Given the description of an element on the screen output the (x, y) to click on. 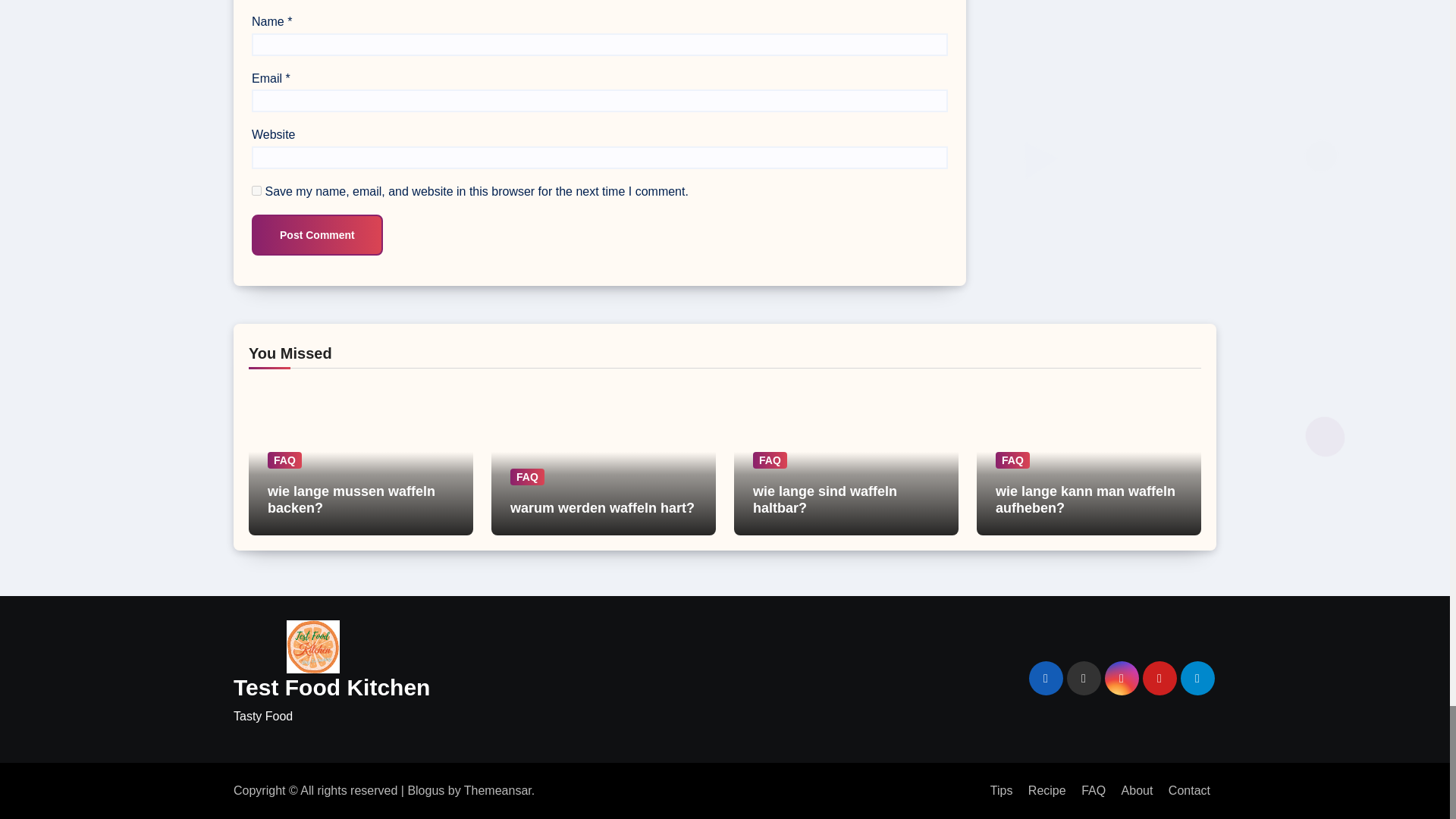
yes (256, 190)
Permalink to: wie lange sind waffeln haltbar? (824, 499)
Permalink to: warum werden waffeln hart? (602, 507)
Permalink to: wie lange mussen waffeln backen? (351, 499)
Post Comment (316, 234)
